Given the description of an element on the screen output the (x, y) to click on. 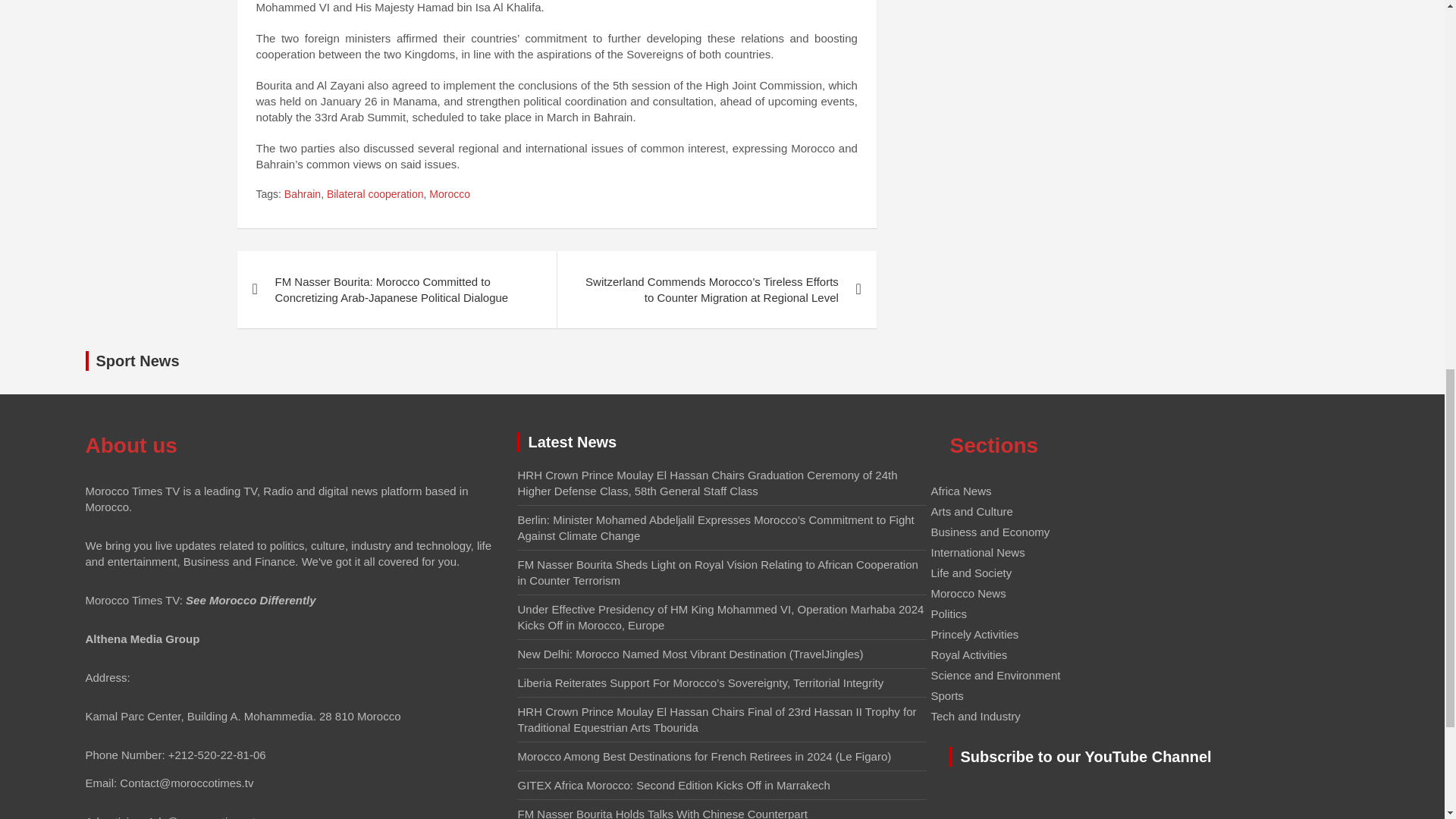
Bahrain (301, 194)
Bilateral cooperation (374, 194)
Morocco (449, 194)
